Given the description of an element on the screen output the (x, y) to click on. 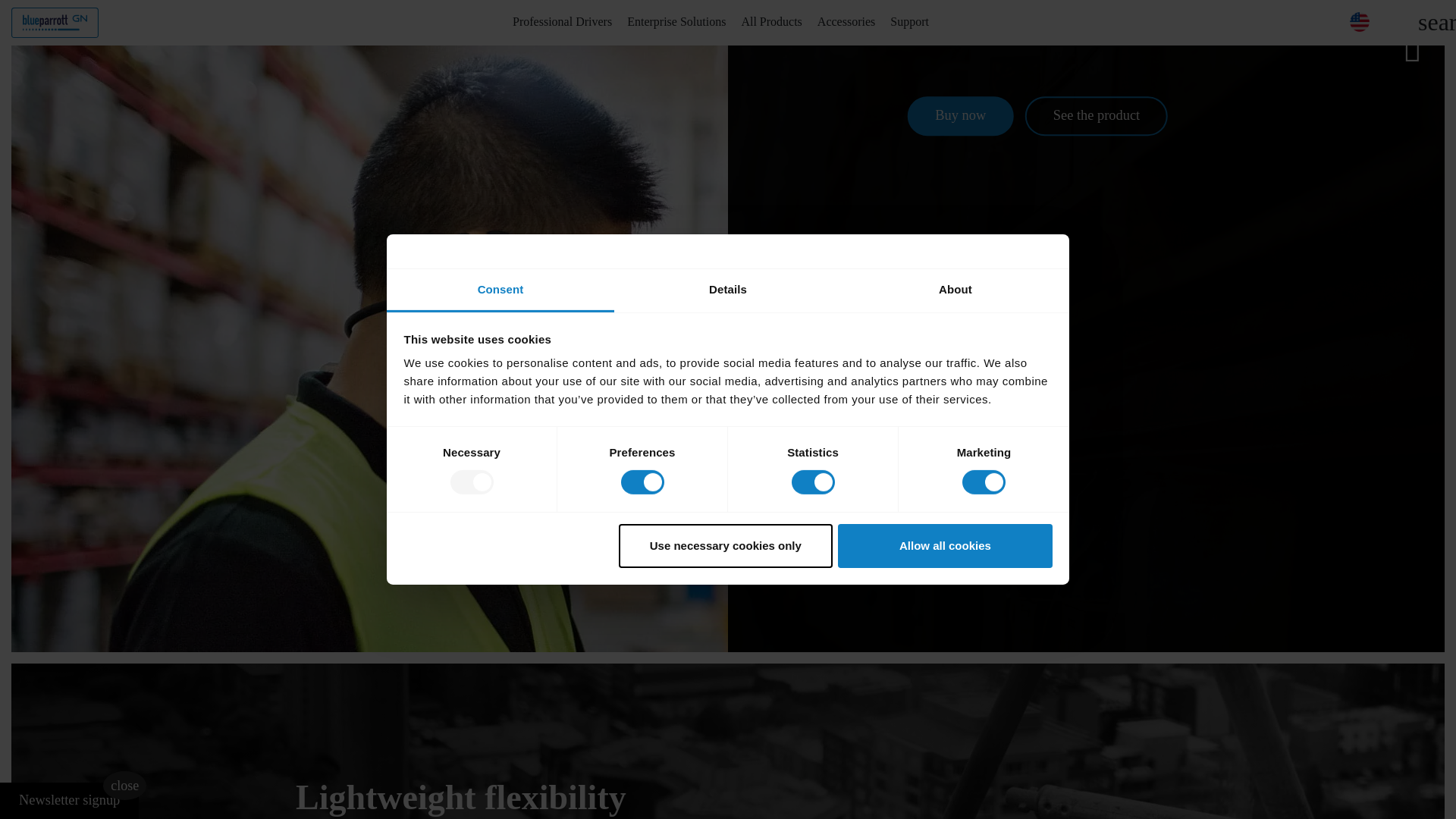
About (954, 290)
Details (727, 290)
Consent (500, 290)
